Given the description of an element on the screen output the (x, y) to click on. 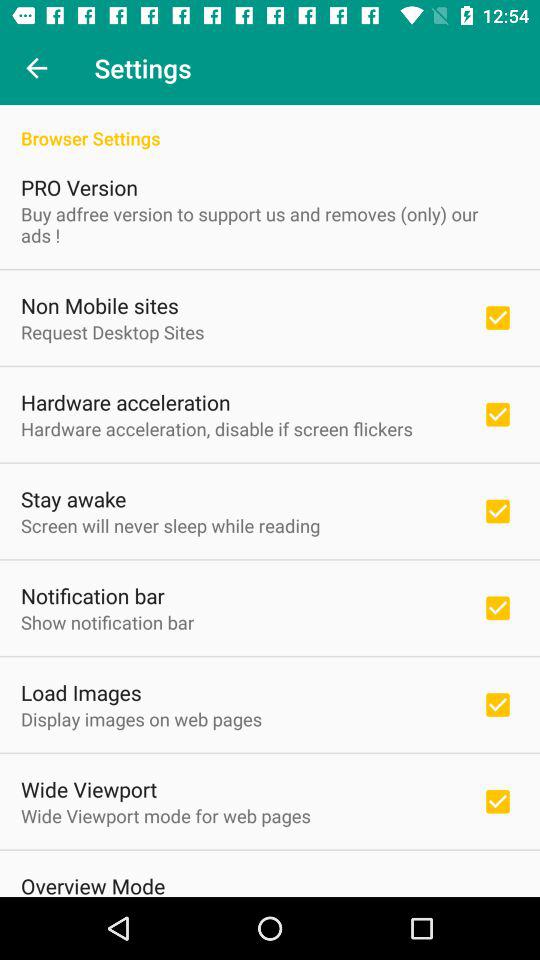
click the icon above the display images on (81, 692)
